Given the description of an element on the screen output the (x, y) to click on. 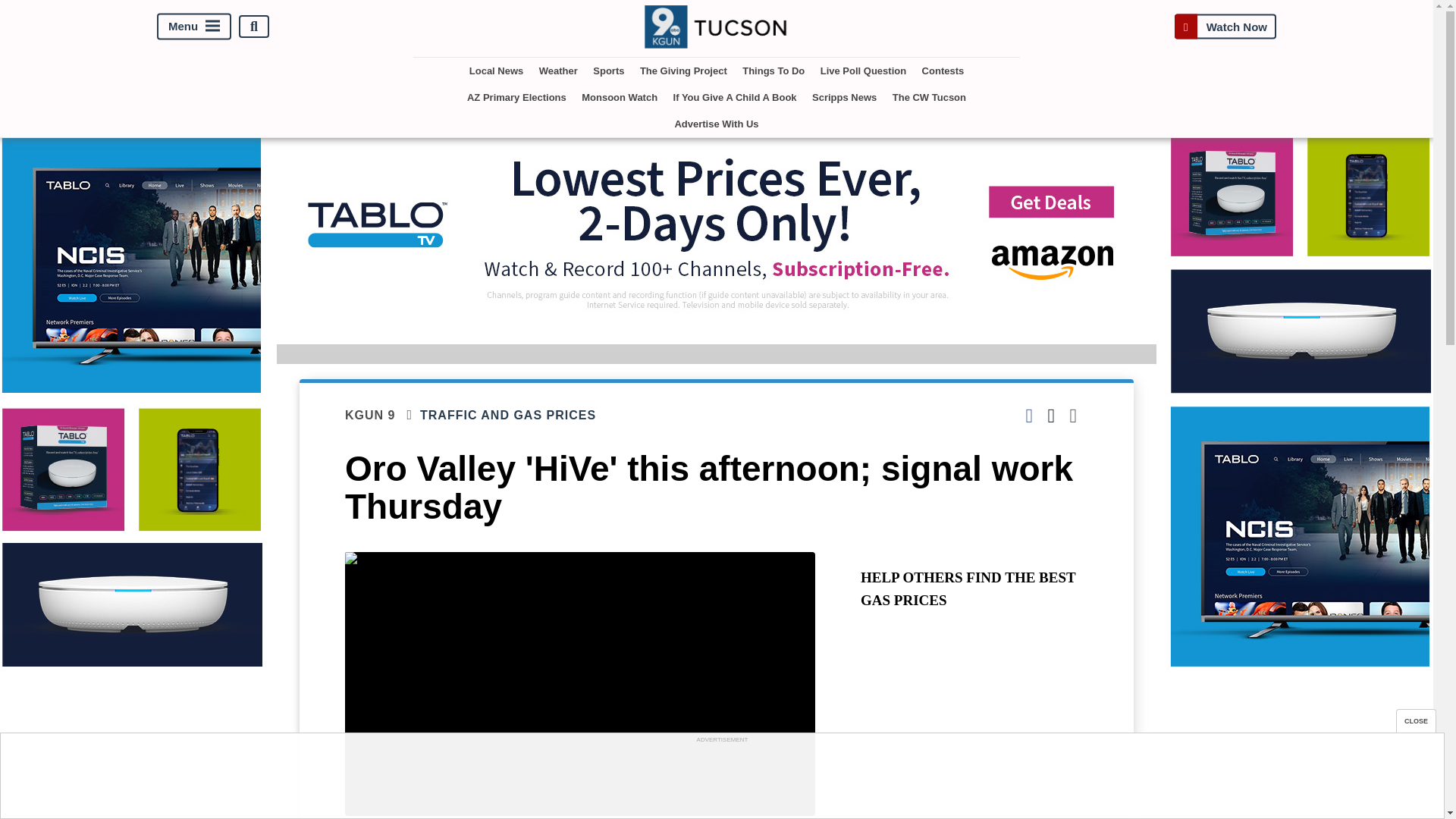
Menu (194, 26)
Watch Now (1224, 26)
3rd party ad content (721, 780)
